Given the description of an element on the screen output the (x, y) to click on. 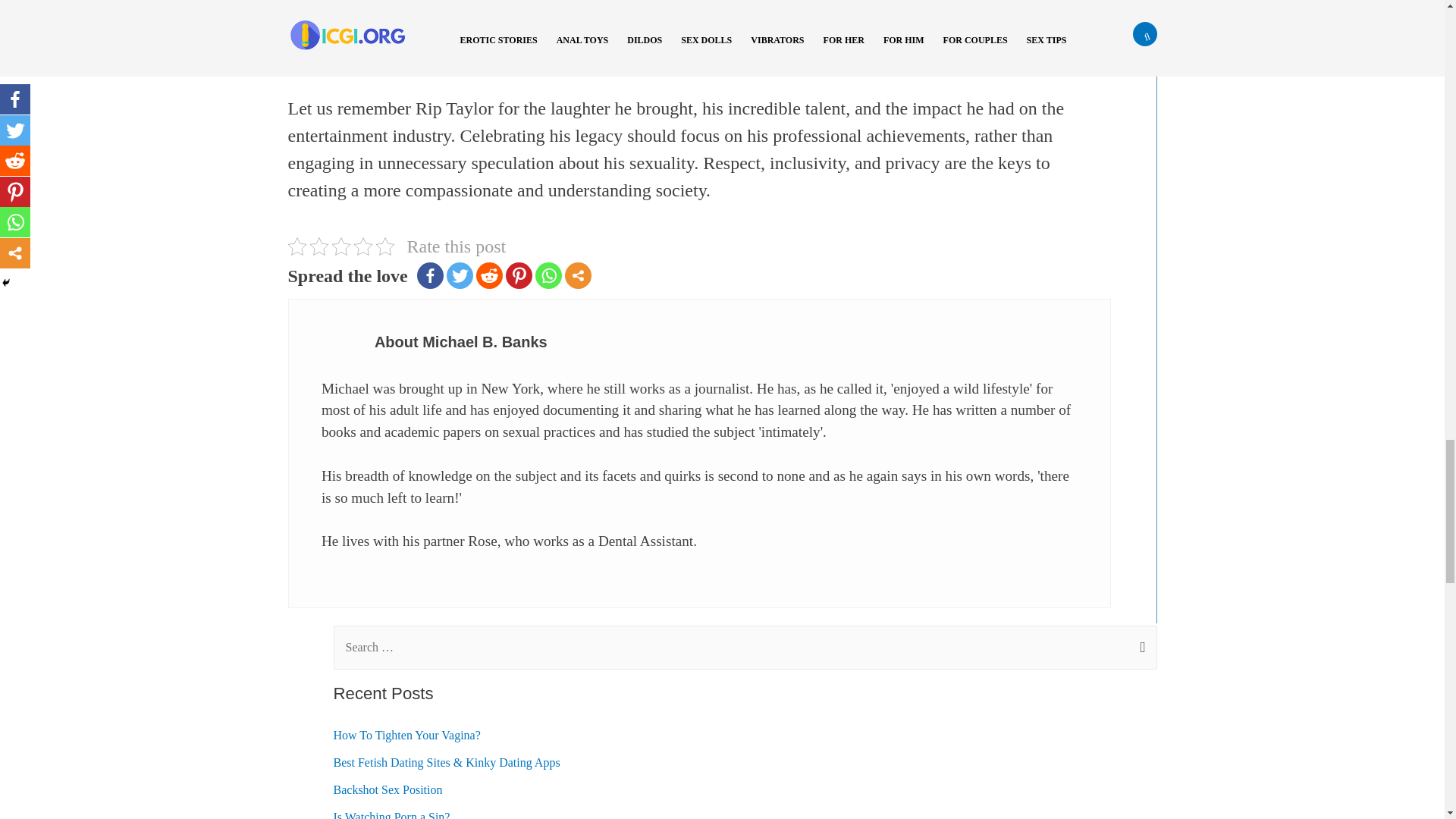
Twitter (459, 275)
Pinterest (518, 275)
Search (1139, 631)
Facebook (430, 275)
How To Tighten Your Vagina? (406, 735)
Search (1139, 631)
Backshot Sex Position (387, 789)
Reddit (489, 275)
Is Watching Porn a Sin? (391, 814)
Whatsapp (548, 275)
